Given the description of an element on the screen output the (x, y) to click on. 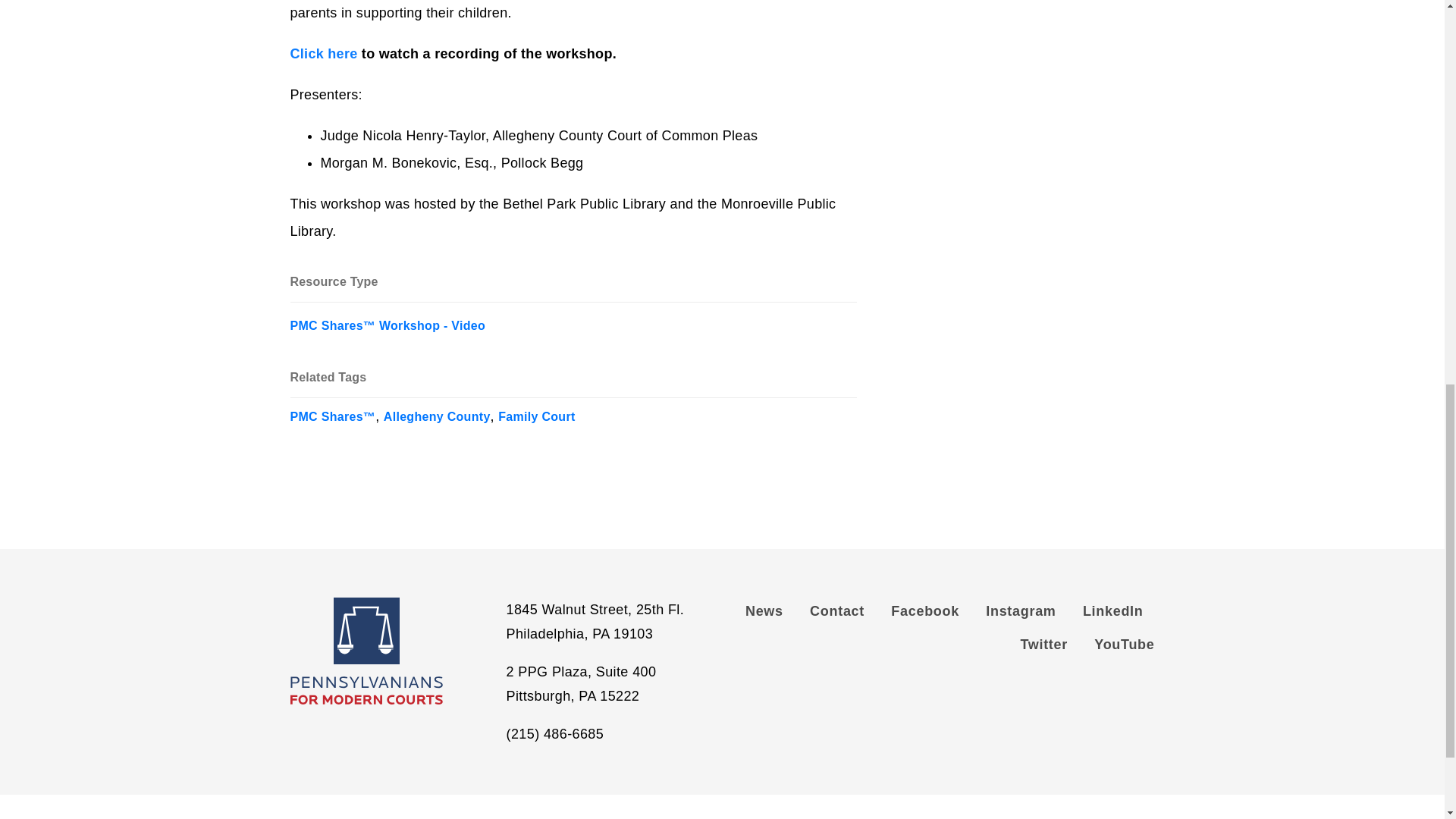
Instagram (1020, 614)
Contact (836, 614)
Family Court (536, 411)
Twitter (1043, 648)
Click here (322, 53)
Facebook (925, 614)
LinkedIn (1112, 614)
News (769, 614)
Allegheny County (437, 411)
